Given the description of an element on the screen output the (x, y) to click on. 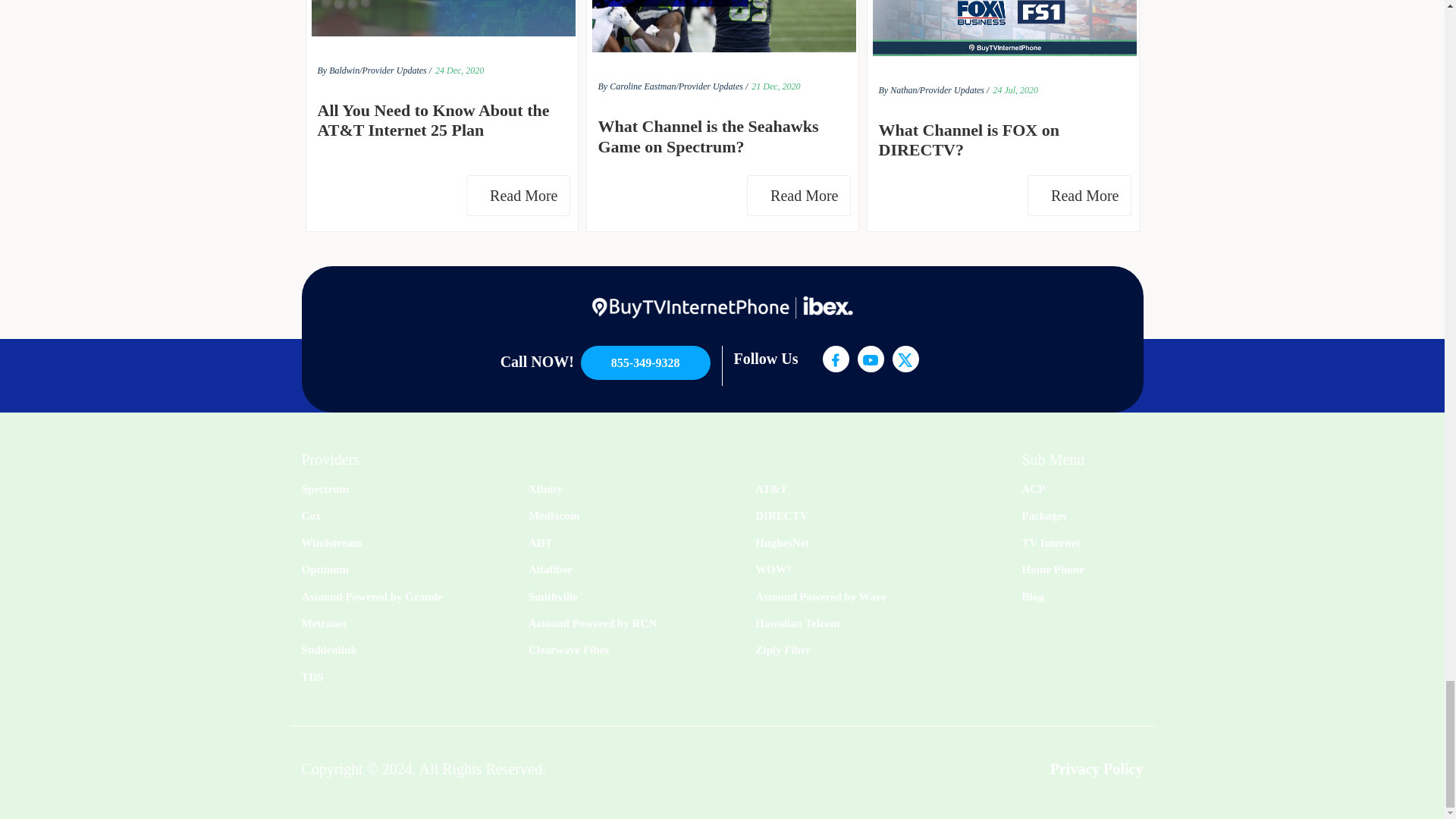
What Channel is the Seahawks Game on Spectrum? (720, 137)
Read More   (1079, 195)
Read More   (517, 195)
What Channel is FOX on DIRECTV? (1001, 140)
Read More   (798, 195)
